Given the description of an element on the screen output the (x, y) to click on. 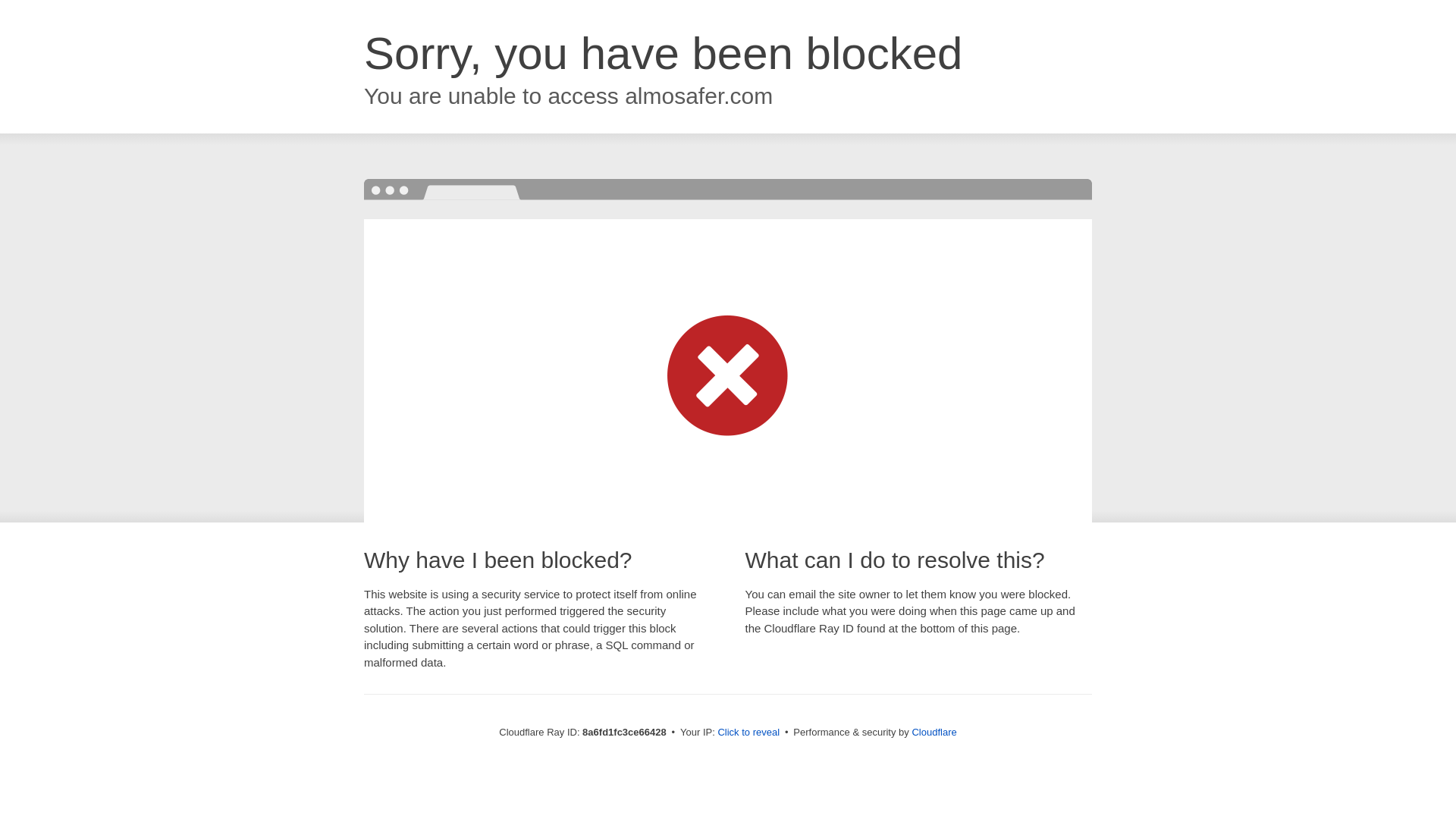
Click to reveal (747, 732)
Cloudflare (933, 731)
